Given the description of an element on the screen output the (x, y) to click on. 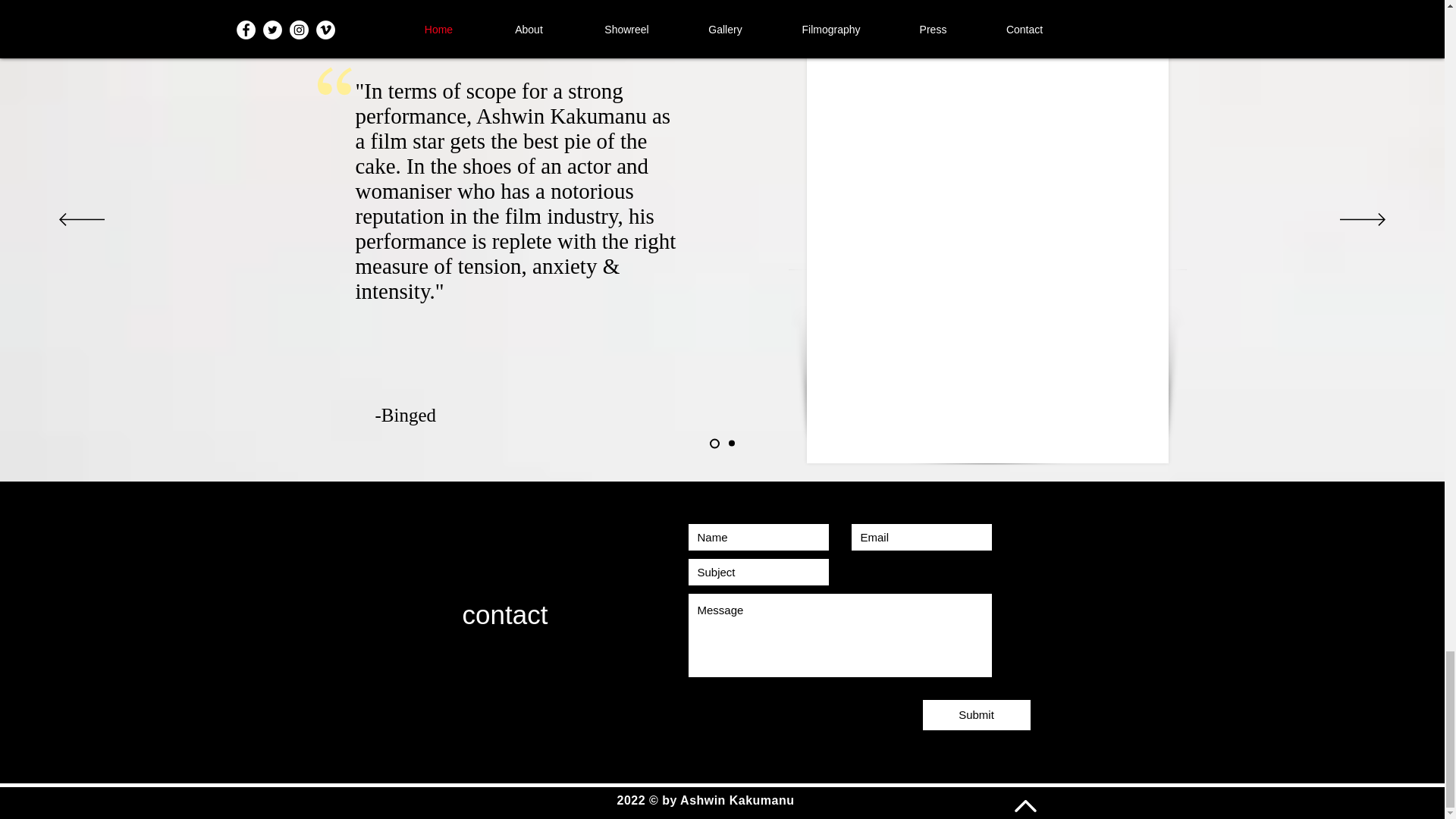
Submit (975, 715)
